Given the description of an element on the screen output the (x, y) to click on. 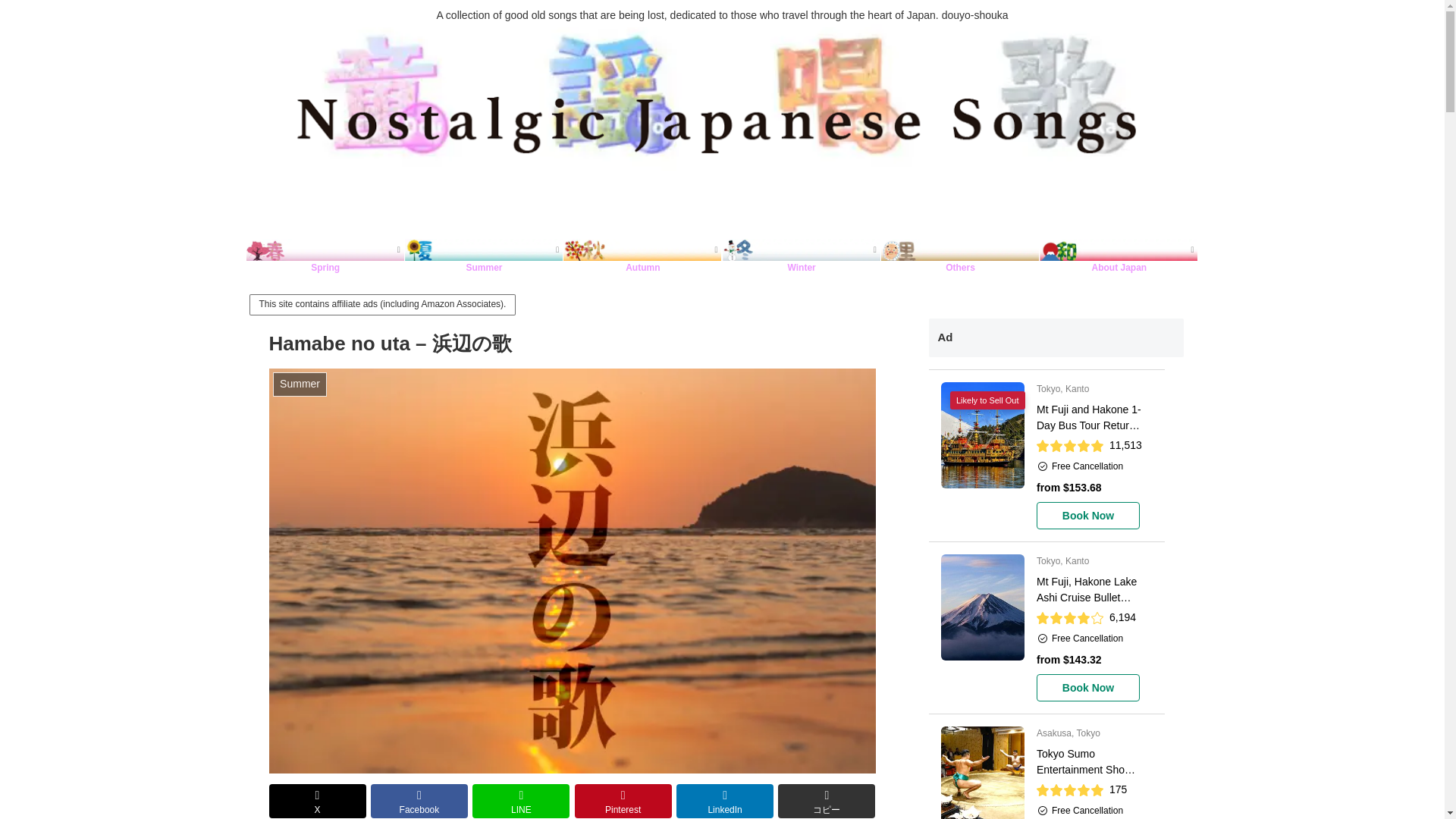
About Japan (1118, 250)
Summer (483, 250)
Autumn (642, 250)
LINE (520, 800)
Facebook (419, 800)
Pinterest (623, 800)
Spring (325, 250)
X (317, 800)
Winter (801, 250)
Others (959, 250)
LinkedIn (725, 800)
